Given the description of an element on the screen output the (x, y) to click on. 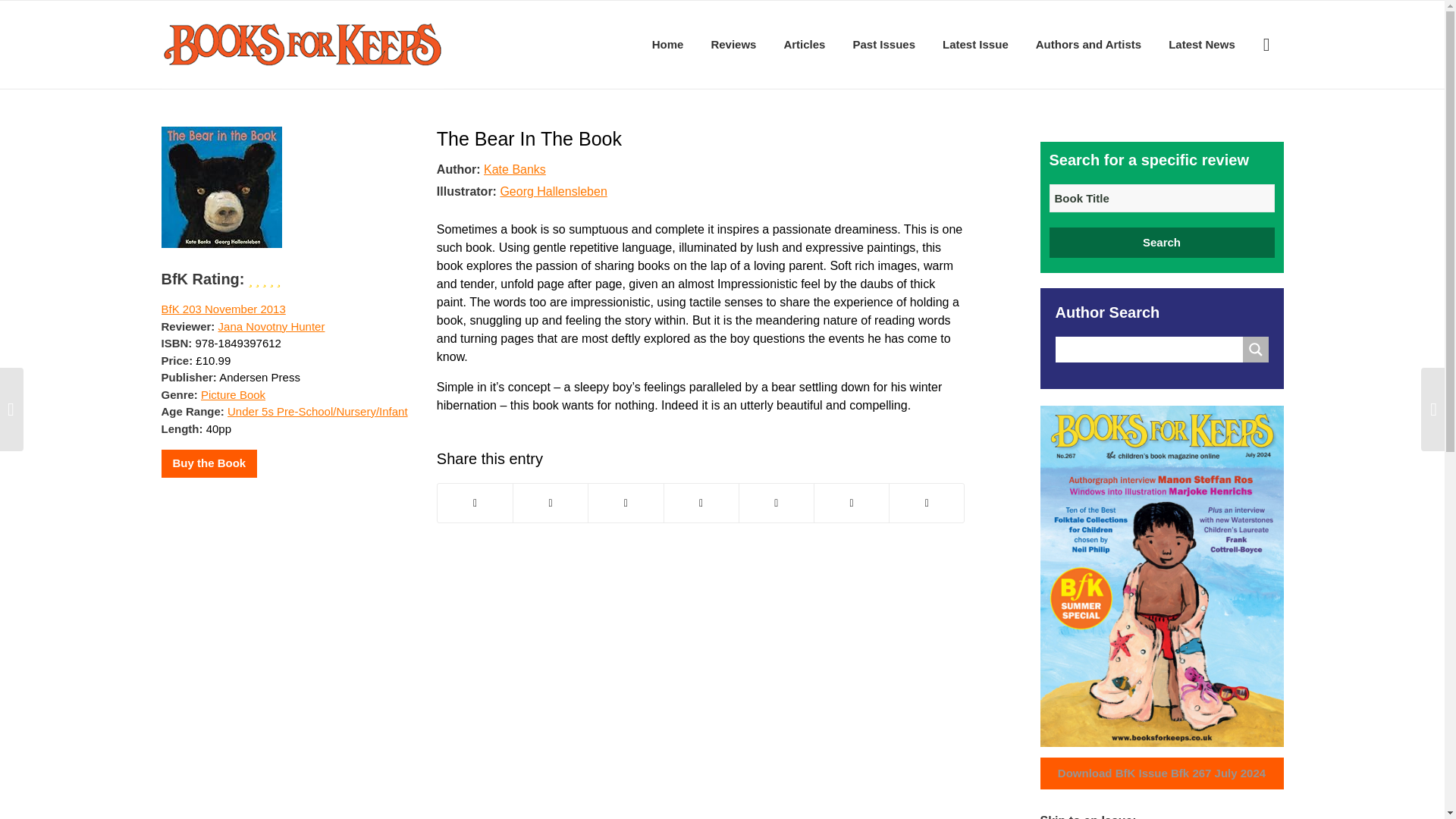
Authors and Artists (1088, 44)
The Bear In The Book (528, 138)
Picture Book (232, 394)
Latest Issue (975, 44)
Search (1162, 242)
Search (1162, 242)
Download BfK Issue Bfk 267 July 2024 (1162, 773)
Permanent Link: The Bear in the Book (528, 138)
Jana Novotny Hunter (271, 326)
Buy the Book (208, 463)
Latest News (1201, 44)
Kate Banks (514, 168)
Georg Hallensleben (553, 191)
BfK 203 November 2013 (222, 308)
Past Issues (883, 44)
